Given the description of an element on the screen output the (x, y) to click on. 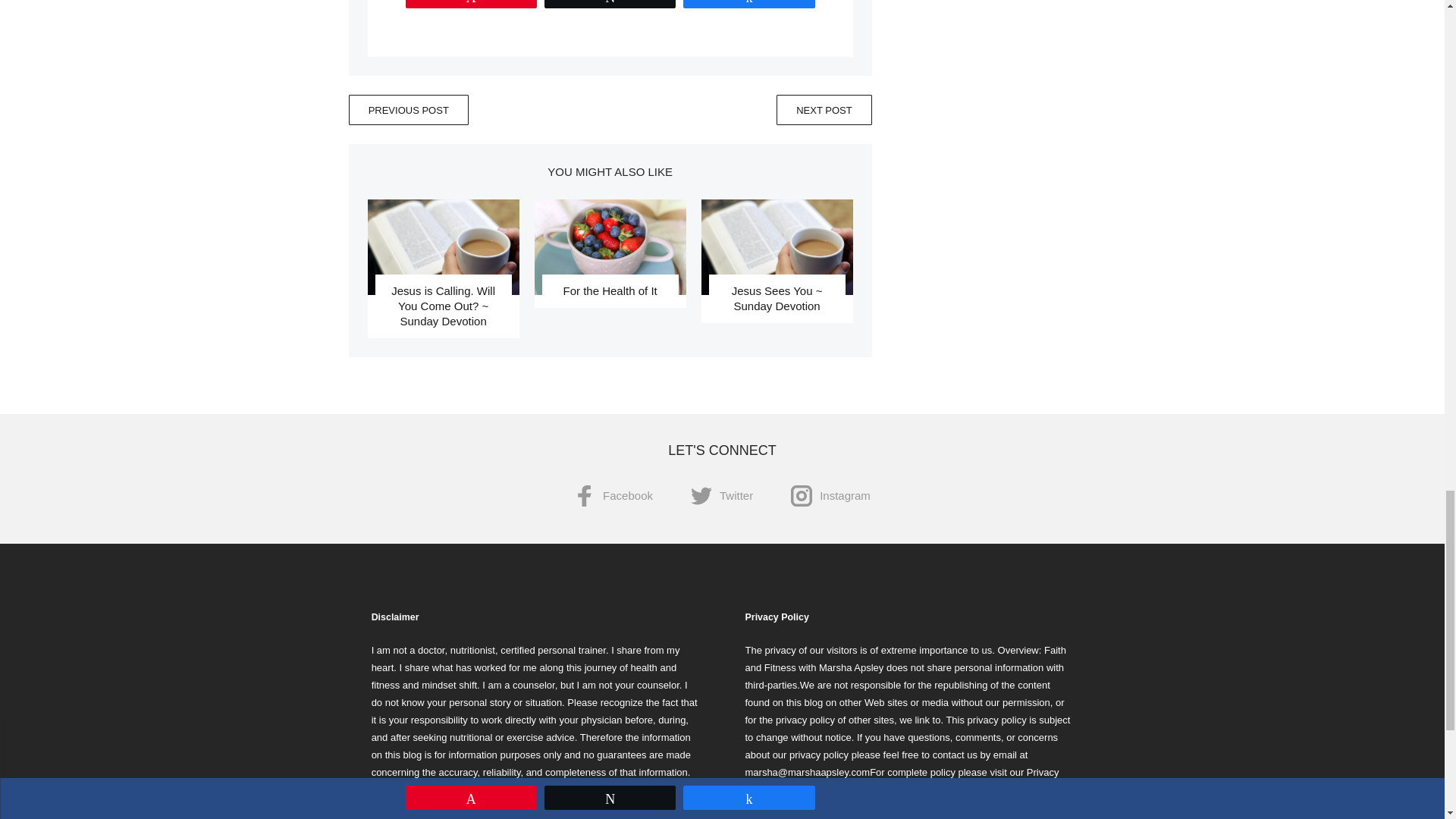
NEXT POST (823, 110)
For the Health of It (609, 290)
PREVIOUS POST (408, 110)
